Given the description of an element on the screen output the (x, y) to click on. 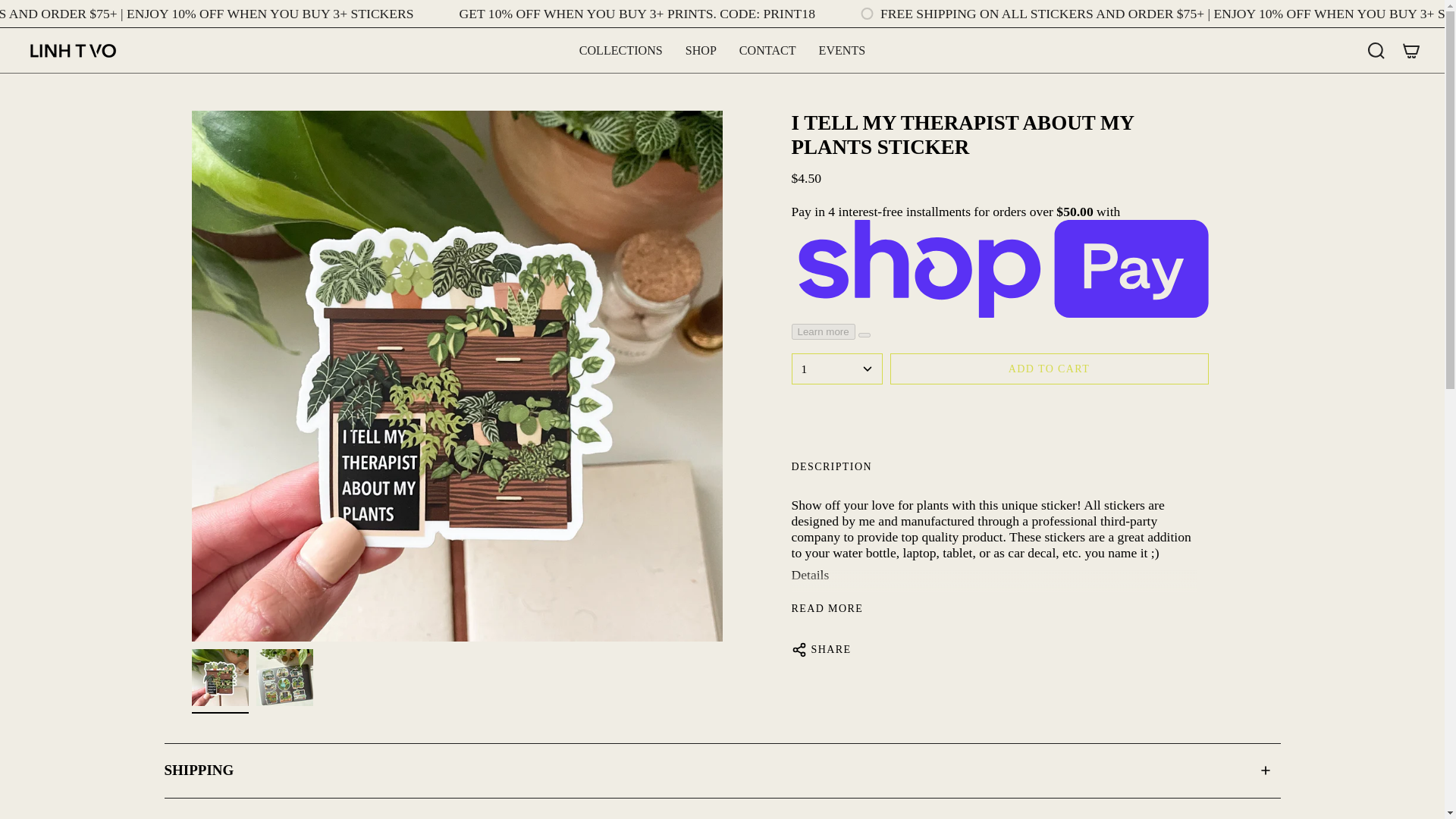
CONTACT (768, 49)
SHOP (701, 49)
Cart (1410, 50)
COLLECTIONS (620, 49)
Search (1375, 50)
EVENTS (842, 49)
